Given the description of an element on the screen output the (x, y) to click on. 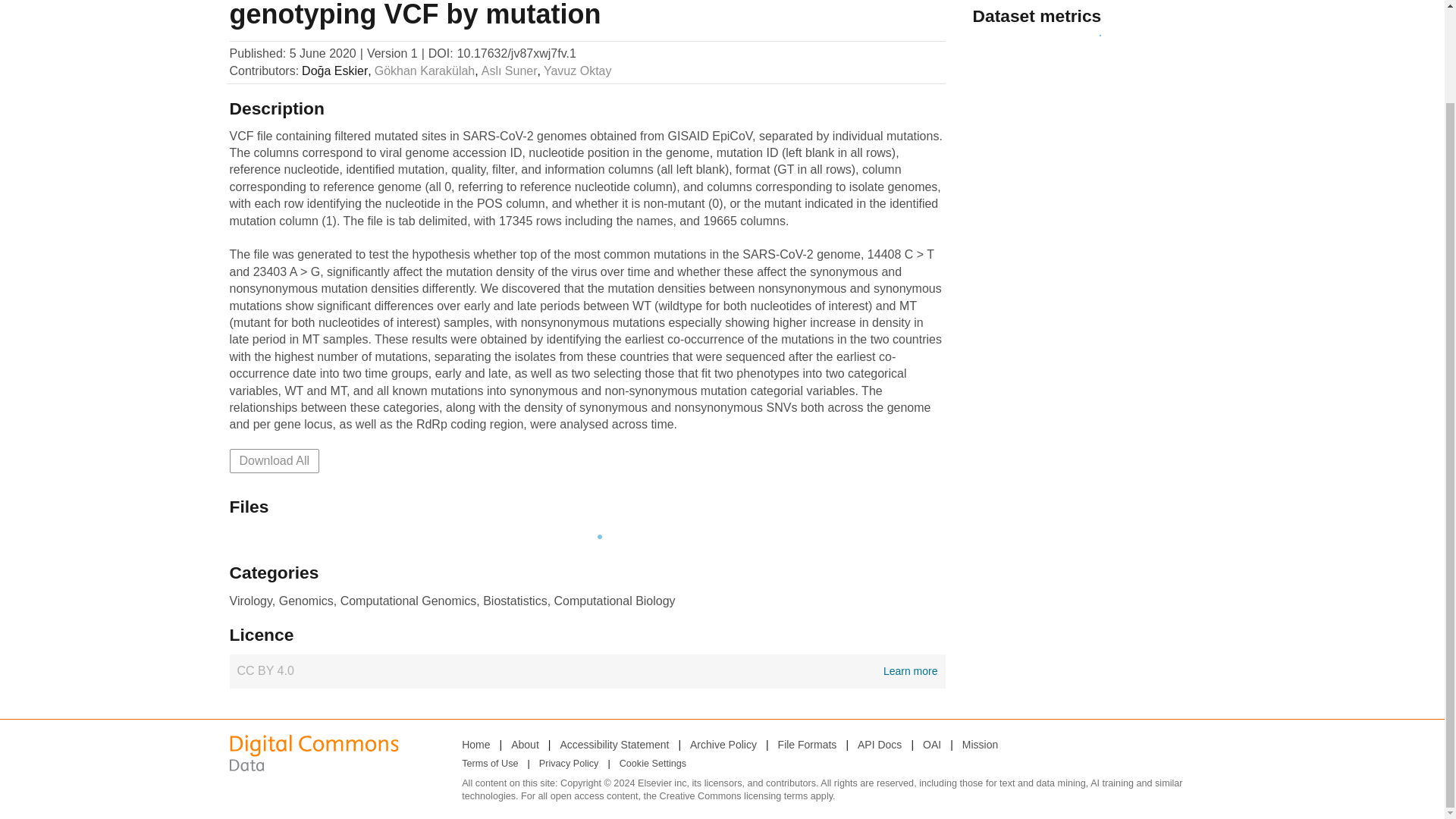
Download All (273, 460)
OAI (931, 744)
Privacy Policy (568, 763)
Archive Policy (723, 744)
Terms of Use (489, 763)
About (524, 744)
Yavuz Oktay (577, 71)
Accessibility Statement (613, 744)
File Formats (586, 670)
